Given the description of an element on the screen output the (x, y) to click on. 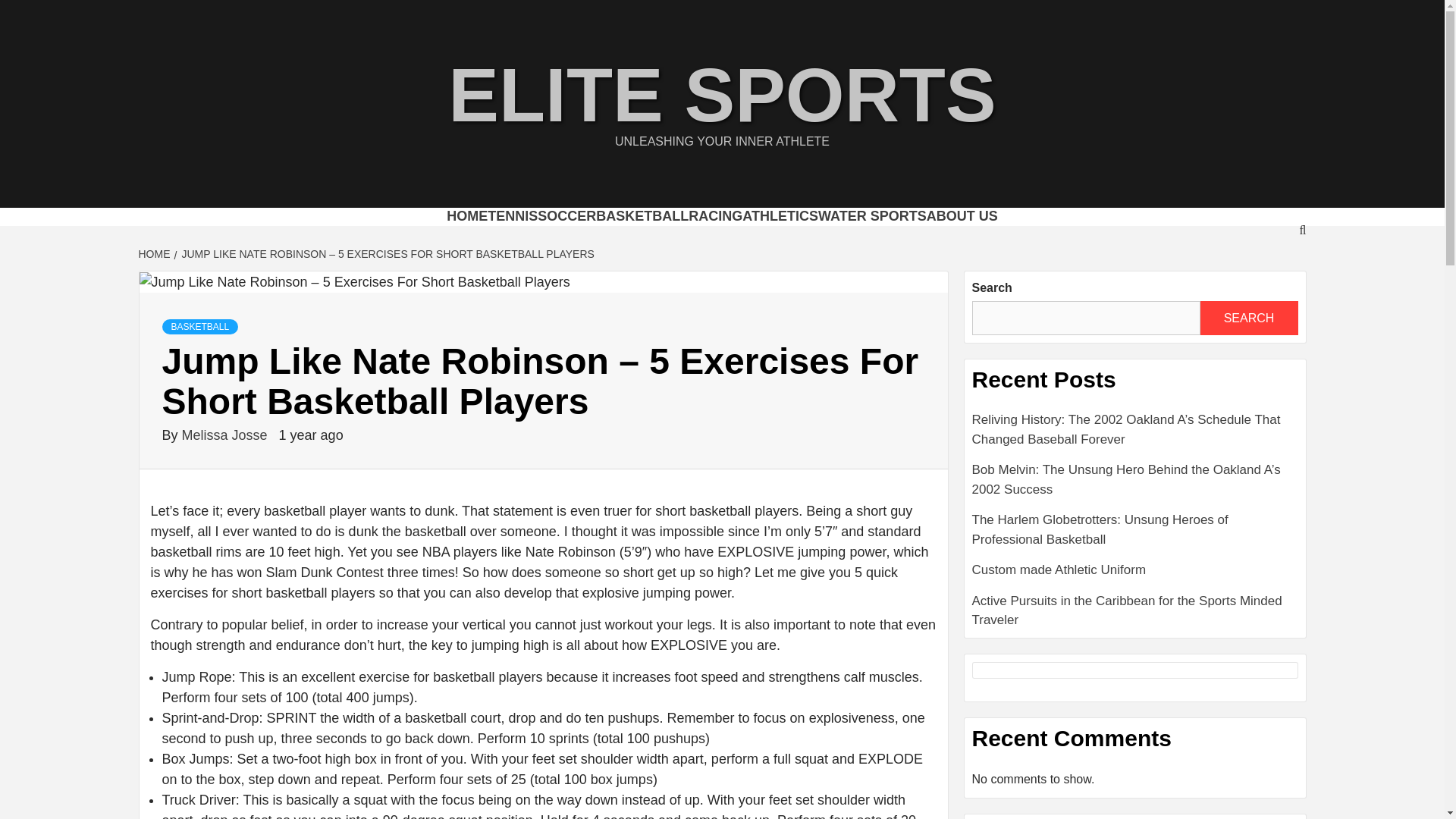
SOCCER (566, 215)
ABOUT US (961, 215)
SEARCH (1248, 317)
HOME (155, 254)
ATHLETICS (780, 215)
BASKETBALL (199, 326)
TENNIS (512, 215)
Custom made Athletic Uniform (1135, 575)
